Given the description of an element on the screen output the (x, y) to click on. 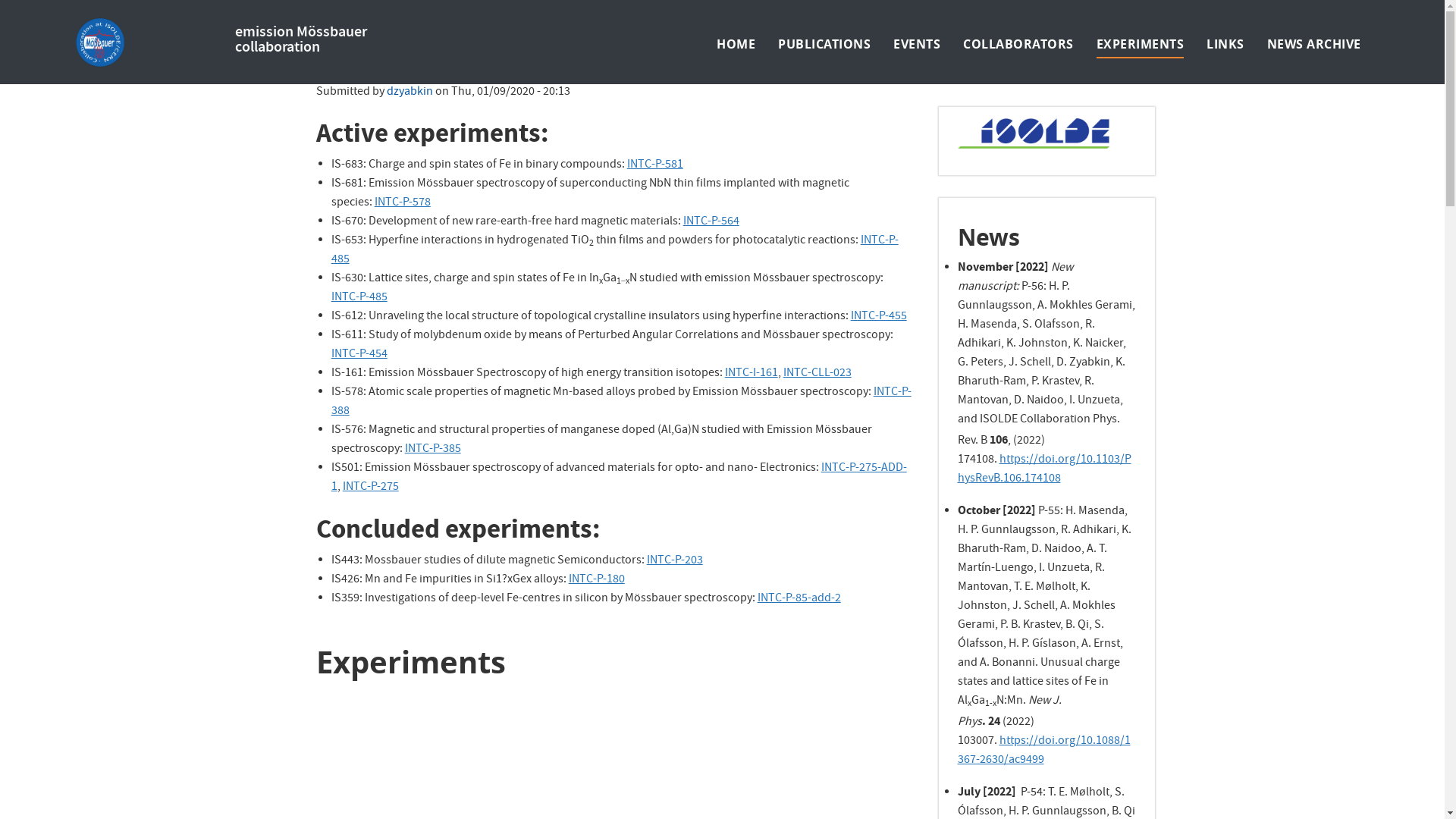
INTC-P-581 Element type: text (655, 165)
INTC-P-180 Element type: text (596, 580)
INTC-P-385 Element type: text (432, 449)
INTC-P-275-ADD-1 Element type: text (618, 477)
INTC-P-454 Element type: text (359, 354)
INTC-I-161 Element type: text (751, 373)
INTC-P-275 Element type: text (370, 487)
PUBLICATIONS Element type: text (824, 43)
INTC-P-578 Element type: text (402, 203)
INTC-P-455 Element type: text (878, 316)
EXPERIMENTS Element type: text (1140, 43)
Directory Element type: text (1351, 14)
EVENTS Element type: text (916, 43)
HOME Element type: text (735, 43)
INTC-P-485 Element type: text (359, 297)
Home Element type: hover (149, 43)
COLLABORATORS Element type: text (1018, 43)
LINKS Element type: text (1225, 43)
NEWS ARCHIVE Element type: text (1314, 43)
INTC-P-203 Element type: text (674, 561)
CERN Accelerating science Element type: text (142, 14)
https://doi.org/10.1103/PhysRevB.106.174108 Element type: text (1043, 469)
Skip to main content Element type: text (0, 0)
INTC-P-564 Element type: text (711, 222)
INTC-P-485 Element type: text (614, 250)
INTC-P-388 Element type: text (621, 401)
INTC-CLL-023 Element type: text (817, 373)
INTC-P-85-add-2 Element type: text (798, 598)
https://doi.org/10.1088/1367-2630/ac9499 Element type: text (1043, 750)
Sign in Element type: text (1301, 14)
dzyabkin Element type: text (409, 92)
